Given the description of an element on the screen output the (x, y) to click on. 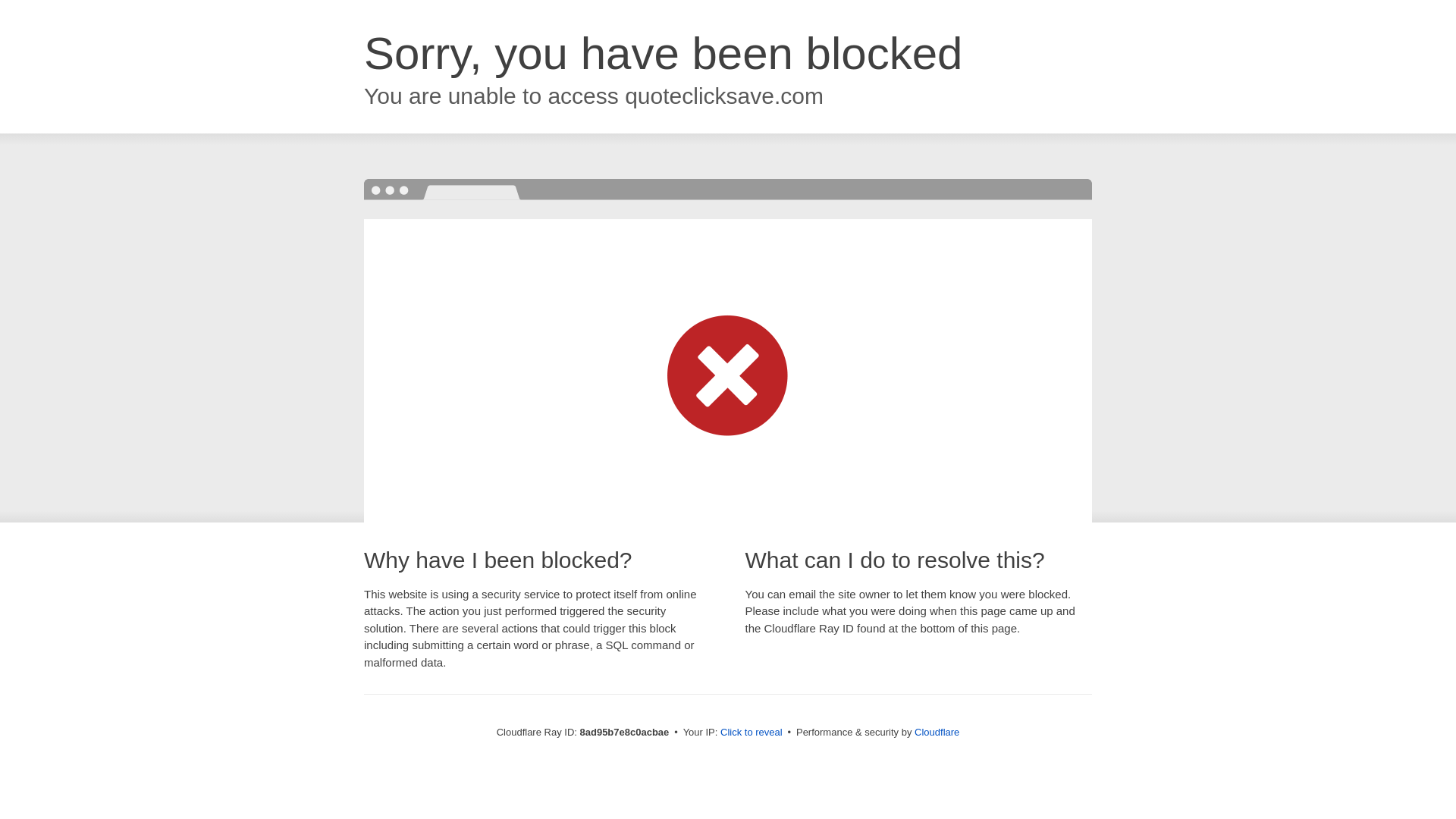
Click to reveal (751, 732)
Cloudflare (936, 731)
